Given the description of an element on the screen output the (x, y) to click on. 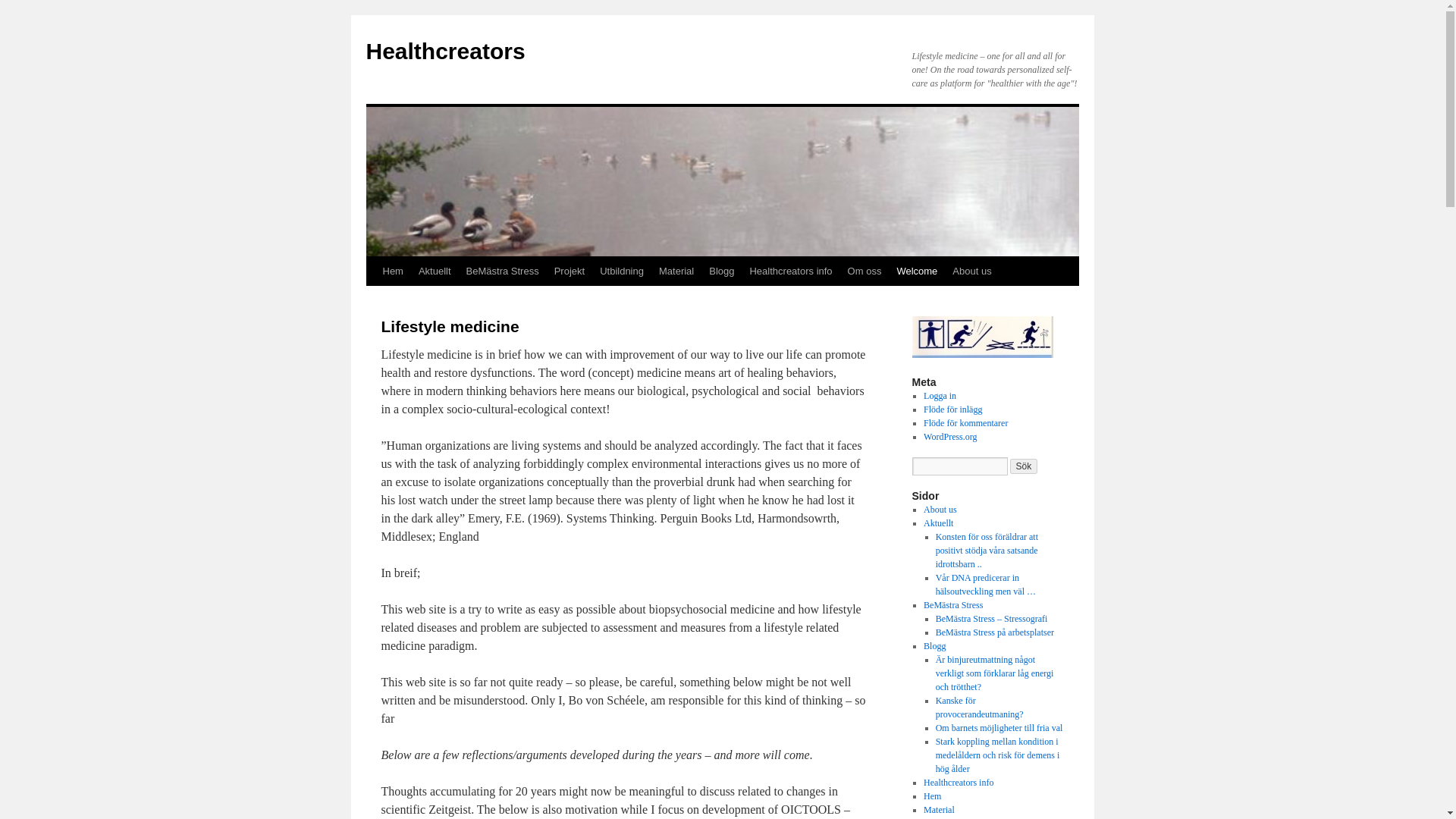
Projekt (569, 271)
Material (675, 271)
Healthcreators (444, 50)
Hem (392, 271)
Healthcreators (444, 50)
Utbildning (621, 271)
Aktuellt (434, 271)
